Given the description of an element on the screen output the (x, y) to click on. 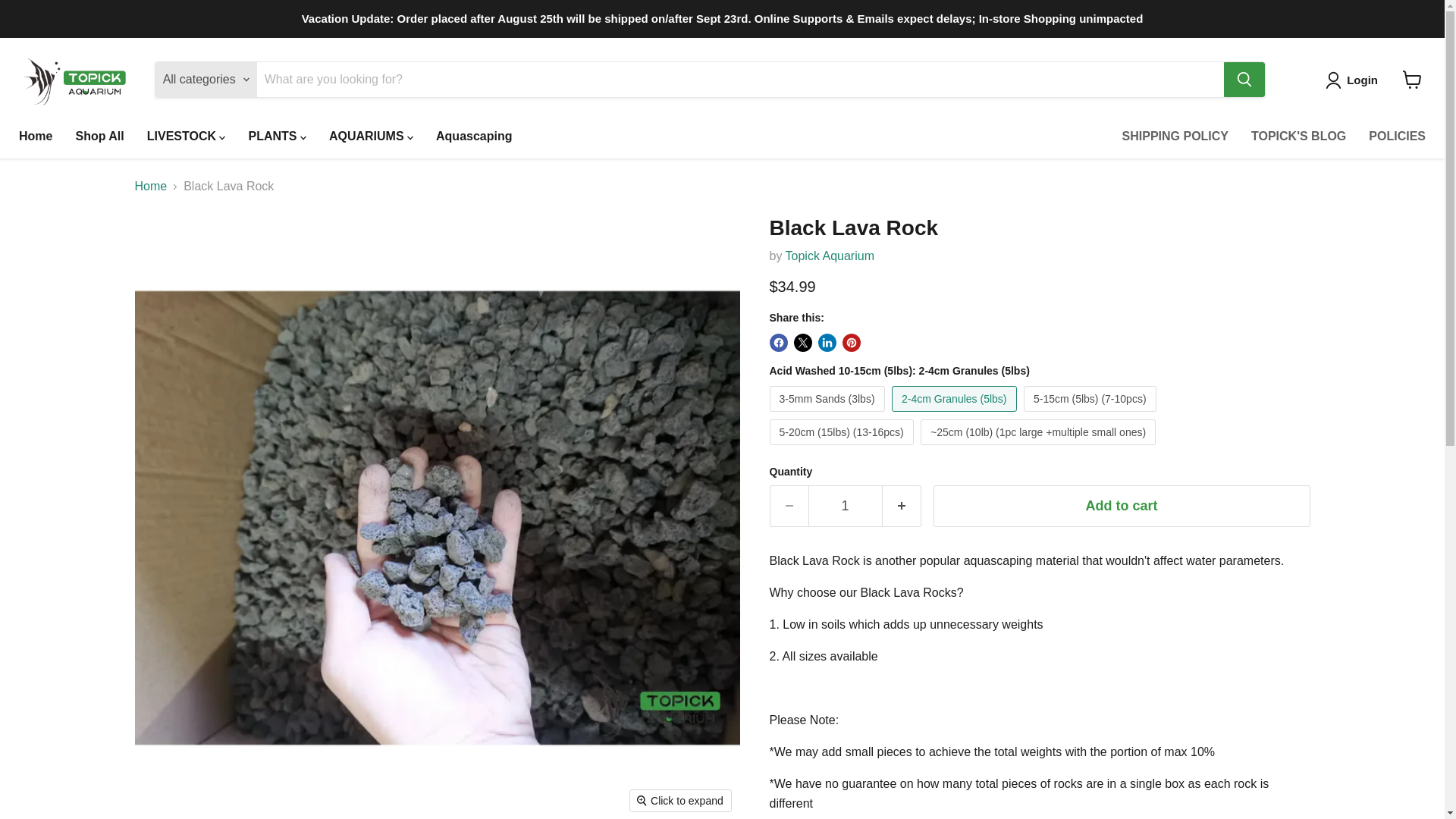
Topick Aquarium (830, 255)
Login (1354, 80)
View cart (1411, 79)
Home (35, 136)
Shop All (99, 136)
1 (845, 506)
